Given the description of an element on the screen output the (x, y) to click on. 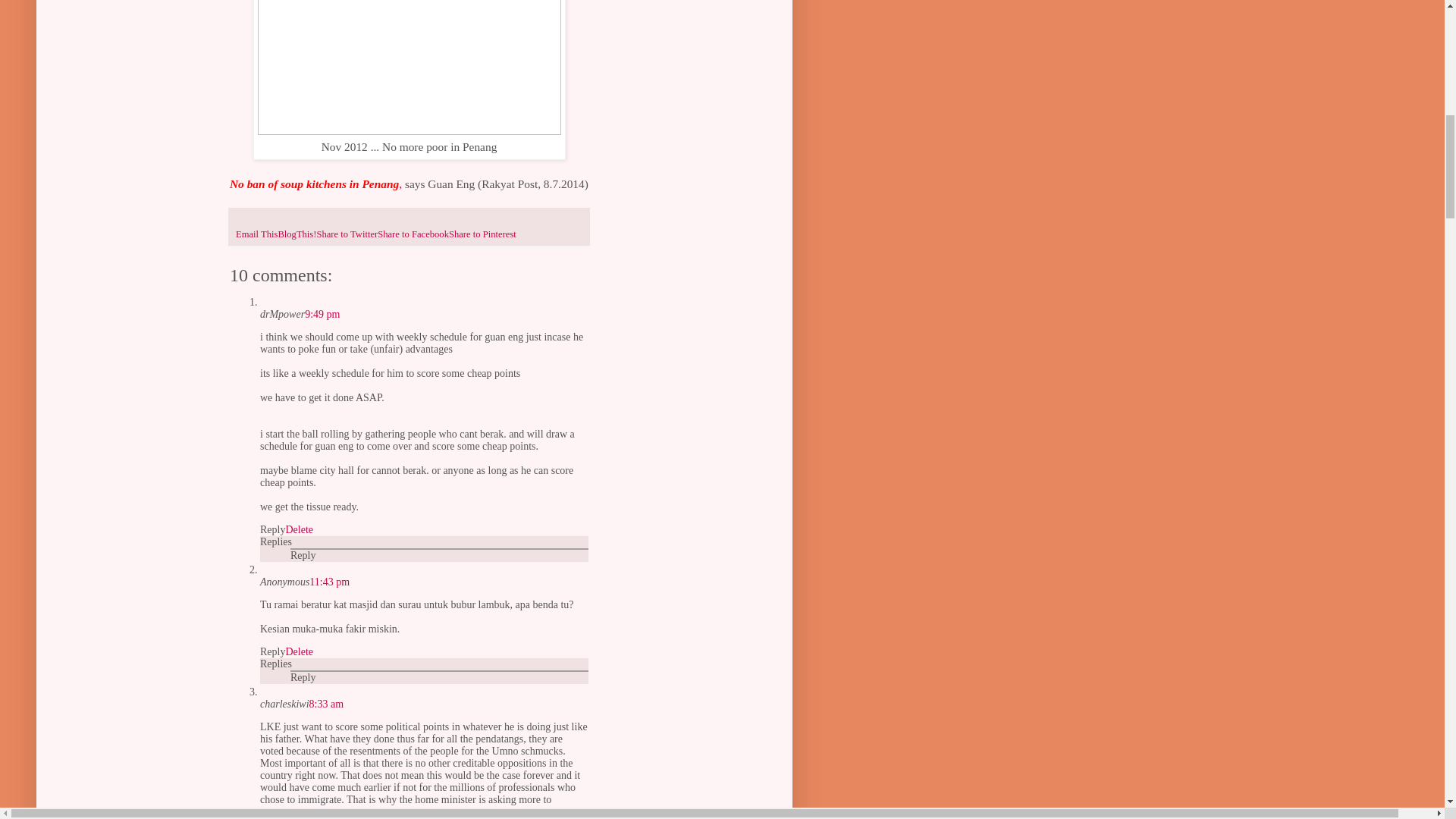
Reply (302, 555)
Delete (299, 651)
11:43 pm (328, 582)
No ban of soup kitchens in Penang, (315, 183)
Share to Pinterest (482, 234)
Share to Twitter (346, 234)
Replies (276, 541)
Replies (276, 663)
Email This (256, 234)
Share to Pinterest (482, 234)
9:49 pm (321, 314)
BlogThis! (296, 234)
Share to Facebook (412, 234)
Reply (302, 677)
8:33 am (325, 704)
